Given the description of an element on the screen output the (x, y) to click on. 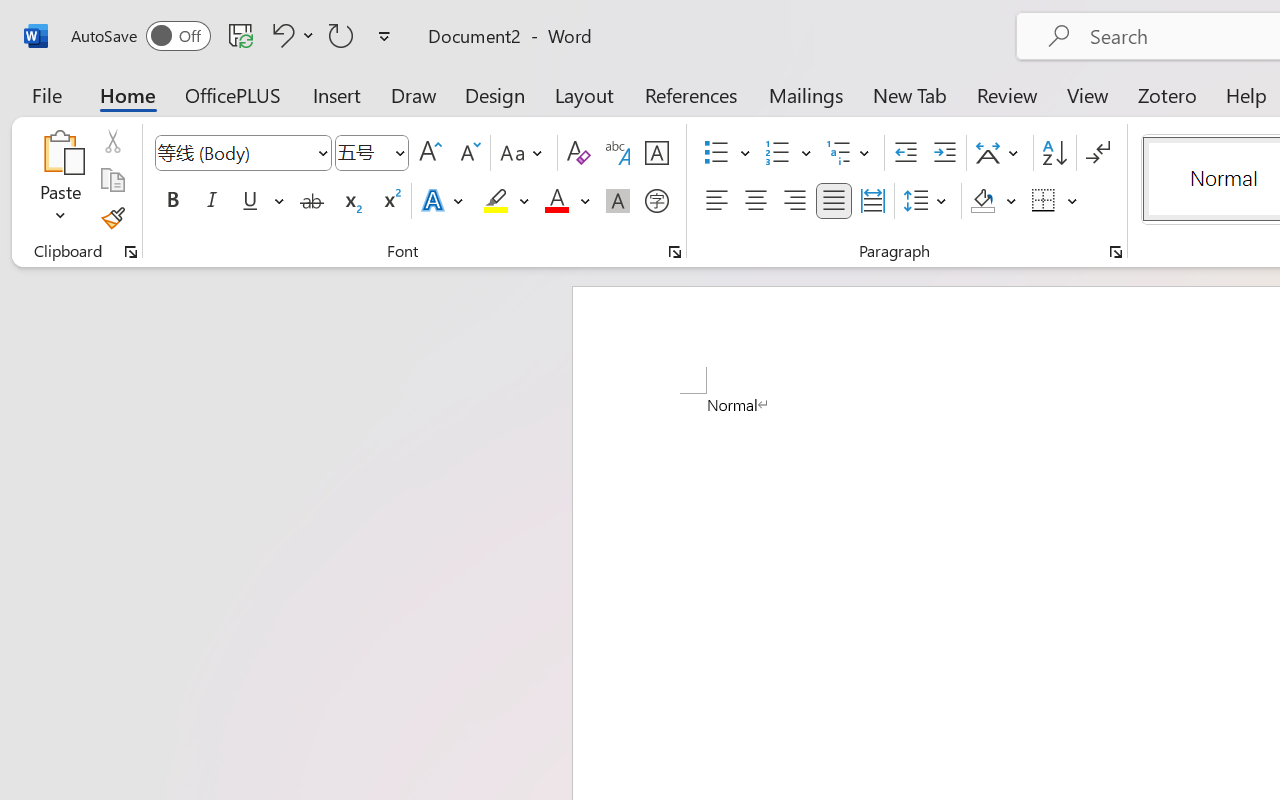
Distributed (872, 201)
Shading RGB(0, 0, 0) (982, 201)
Customize Quick Access Toolbar (384, 35)
Show/Hide Editing Marks (1098, 153)
Undo Apply Quick Style (280, 35)
Superscript (390, 201)
Bold (172, 201)
More Options (1073, 201)
Layout (584, 94)
Review (1007, 94)
Font Color (567, 201)
Zotero (1166, 94)
Paste (60, 179)
Justify (834, 201)
